Given the description of an element on the screen output the (x, y) to click on. 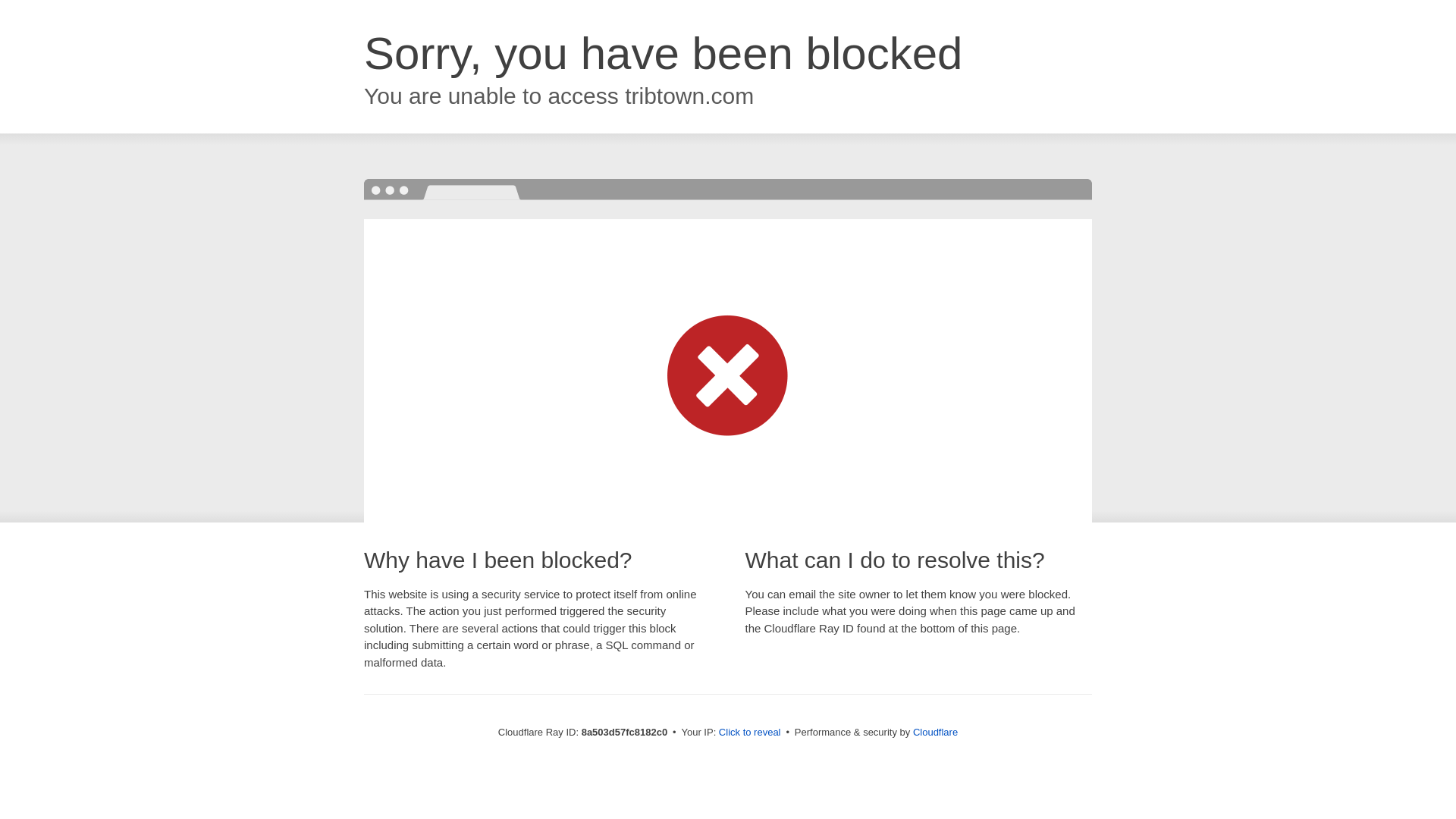
Cloudflare (935, 731)
Click to reveal (749, 732)
